Given the description of an element on the screen output the (x, y) to click on. 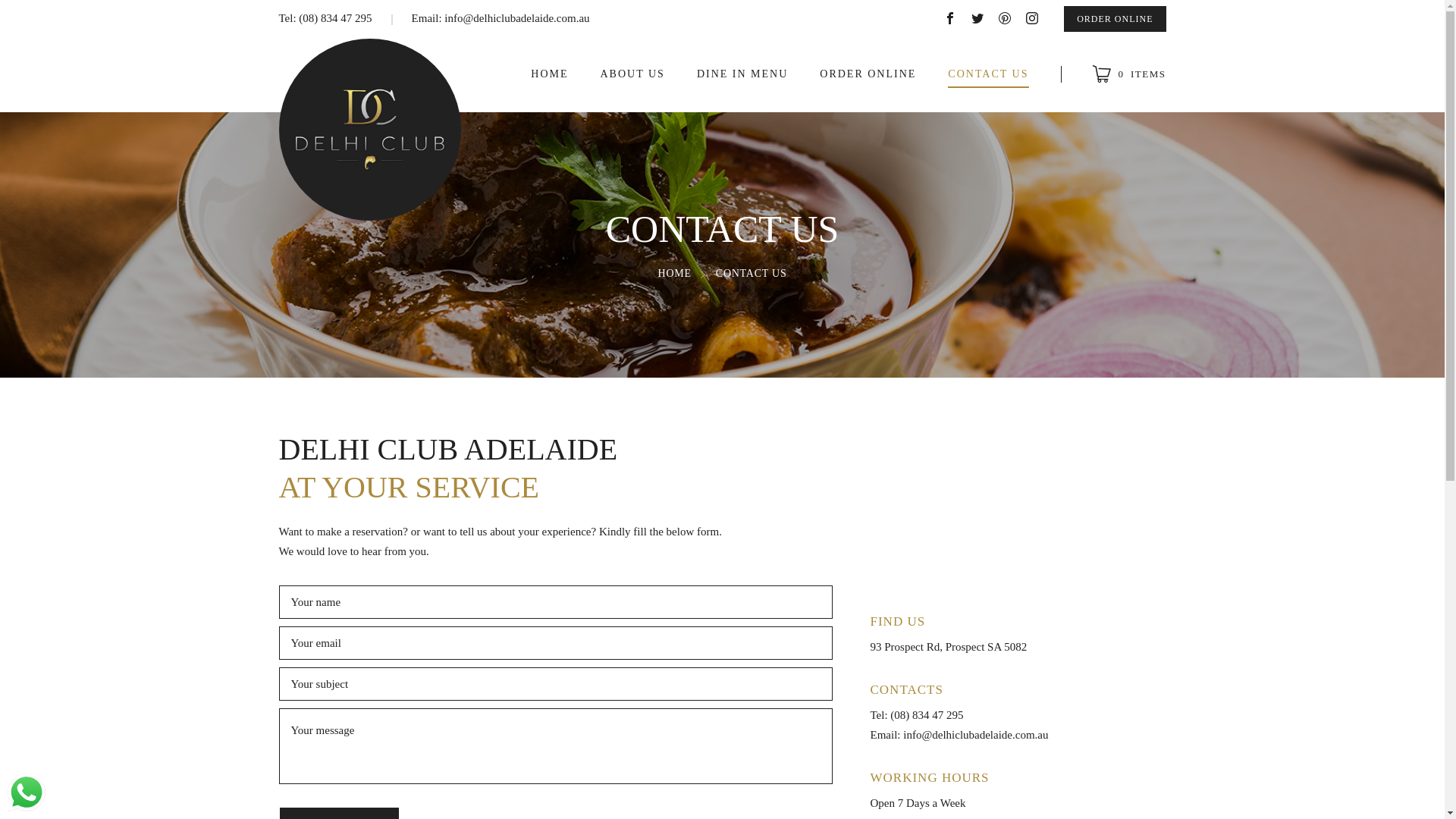
HOME Element type: text (548, 73)
WhatsApp us Element type: hover (26, 792)
ABOUT US Element type: text (632, 73)
CONTACT US Element type: text (987, 73)
HOME Element type: text (674, 273)
ORDER ONLINE Element type: text (867, 73)
Delhi Club Element type: hover (370, 129)
instagram Element type: hover (1031, 18)
0 Element type: text (1128, 74)
facebook Element type: hover (949, 18)
ORDER ONLINE Element type: text (1114, 18)
DINE IN MENU Element type: text (741, 73)
pinterest Element type: hover (1004, 18)
twitter Element type: hover (977, 18)
